Given the description of an element on the screen output the (x, y) to click on. 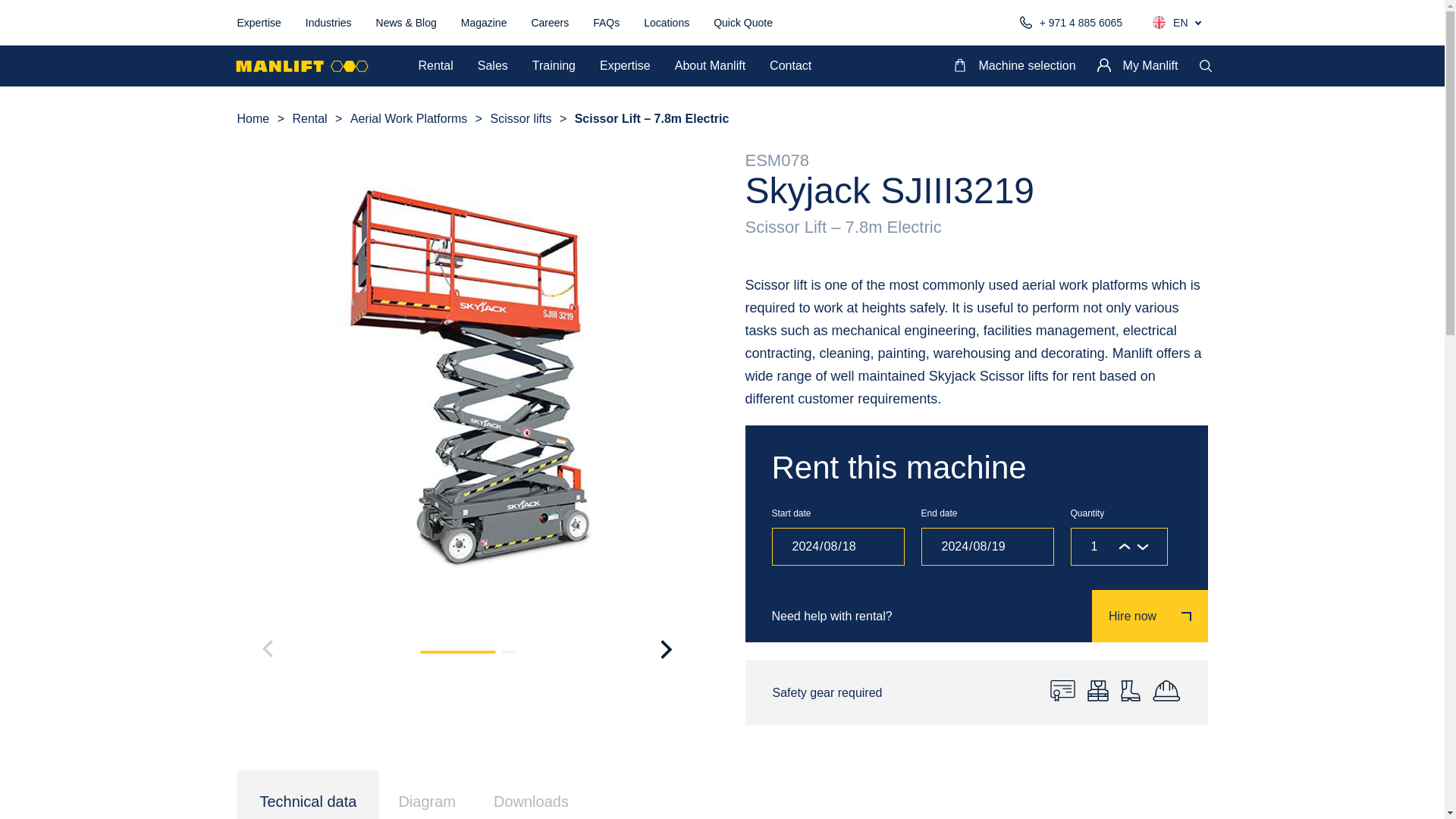
2024-08-18 (837, 546)
Rental (435, 65)
Sales (492, 65)
Quick Quote (743, 22)
Expertise (258, 22)
Magazine (483, 22)
Training (553, 65)
Industries (328, 22)
Locations (665, 22)
Careers (550, 22)
